Given the description of an element on the screen output the (x, y) to click on. 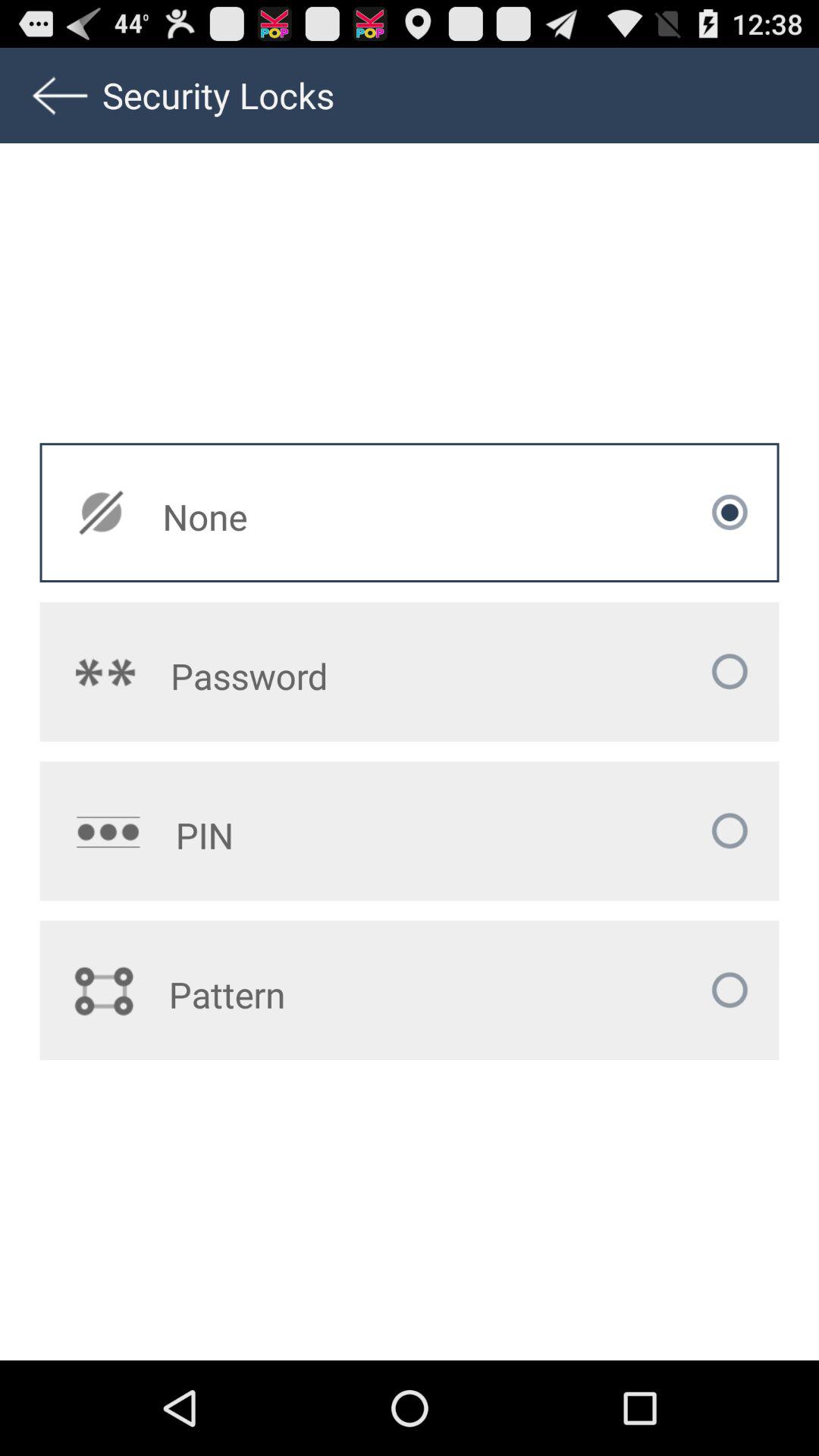
tap the app above password app (311, 516)
